Given the description of an element on the screen output the (x, y) to click on. 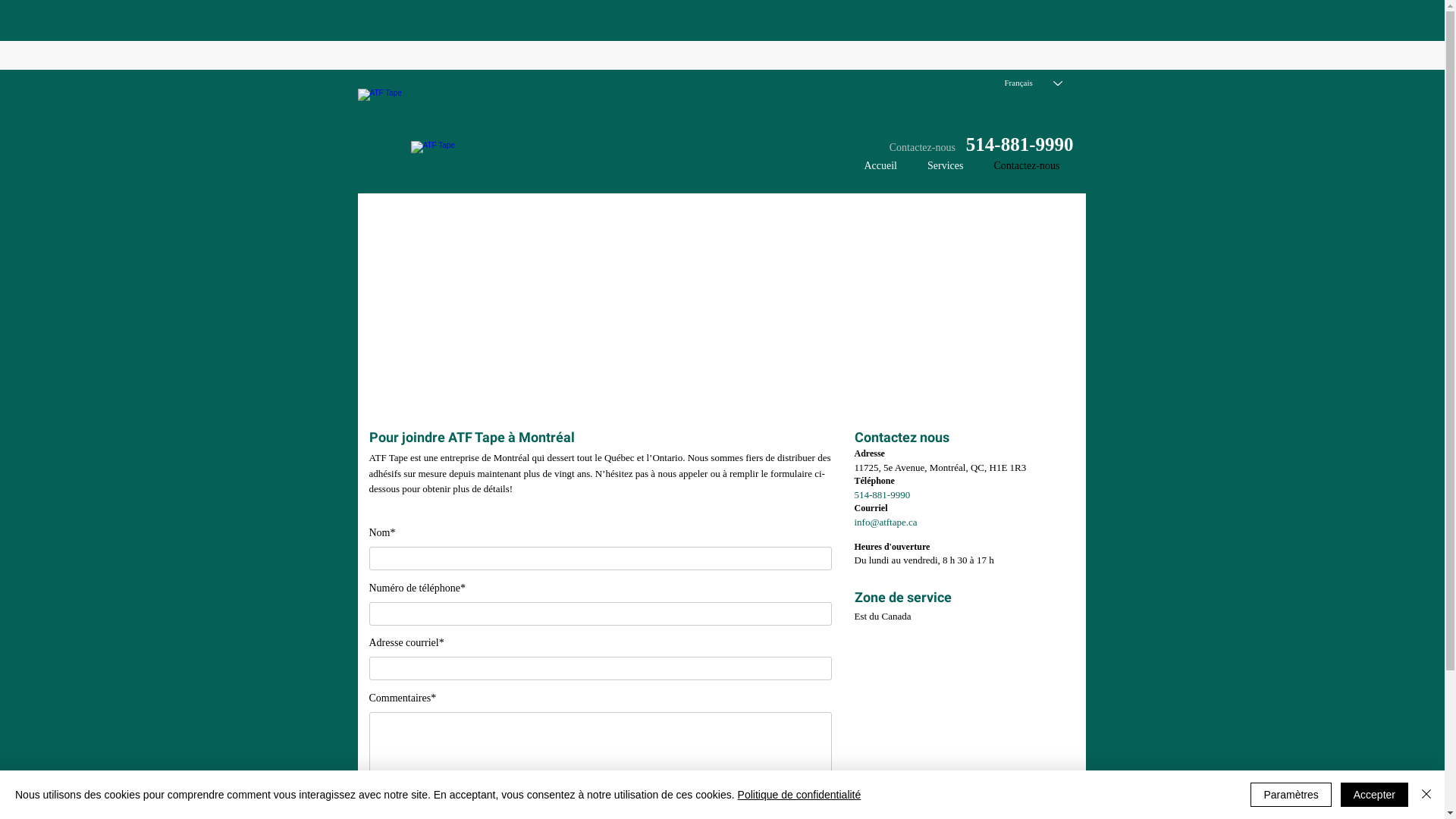
Accueil Element type: text (880, 165)
Contactez-nous Element type: text (1026, 165)
Embedded Content Element type: hover (1069, 60)
info@atftape.ca Element type: text (884, 521)
Services Element type: text (945, 165)
Google Maps Element type: hover (721, 299)
Embedded Content Element type: hover (950, 63)
